Given the description of an element on the screen output the (x, y) to click on. 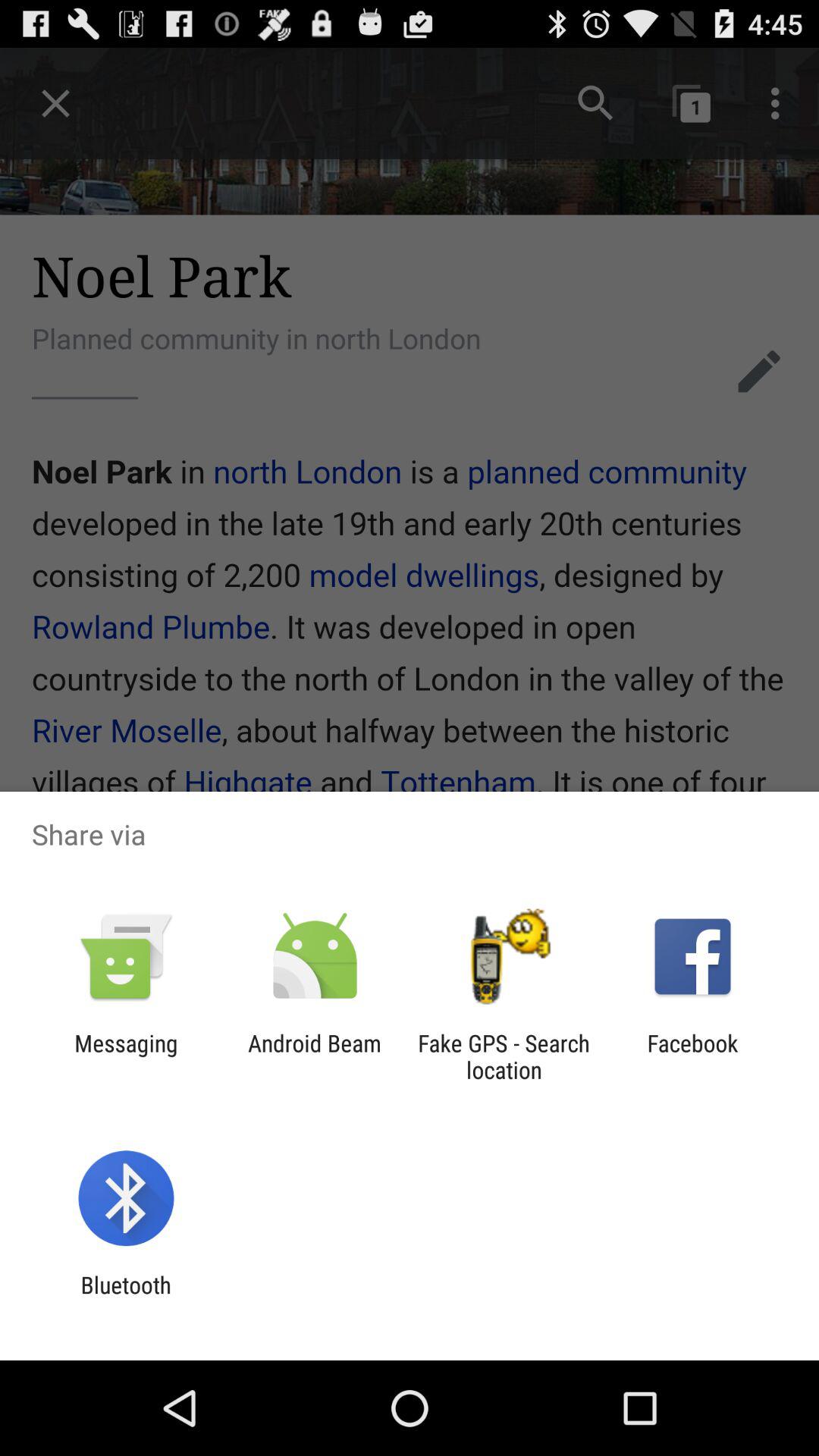
tap the messaging app (126, 1056)
